Given the description of an element on the screen output the (x, y) to click on. 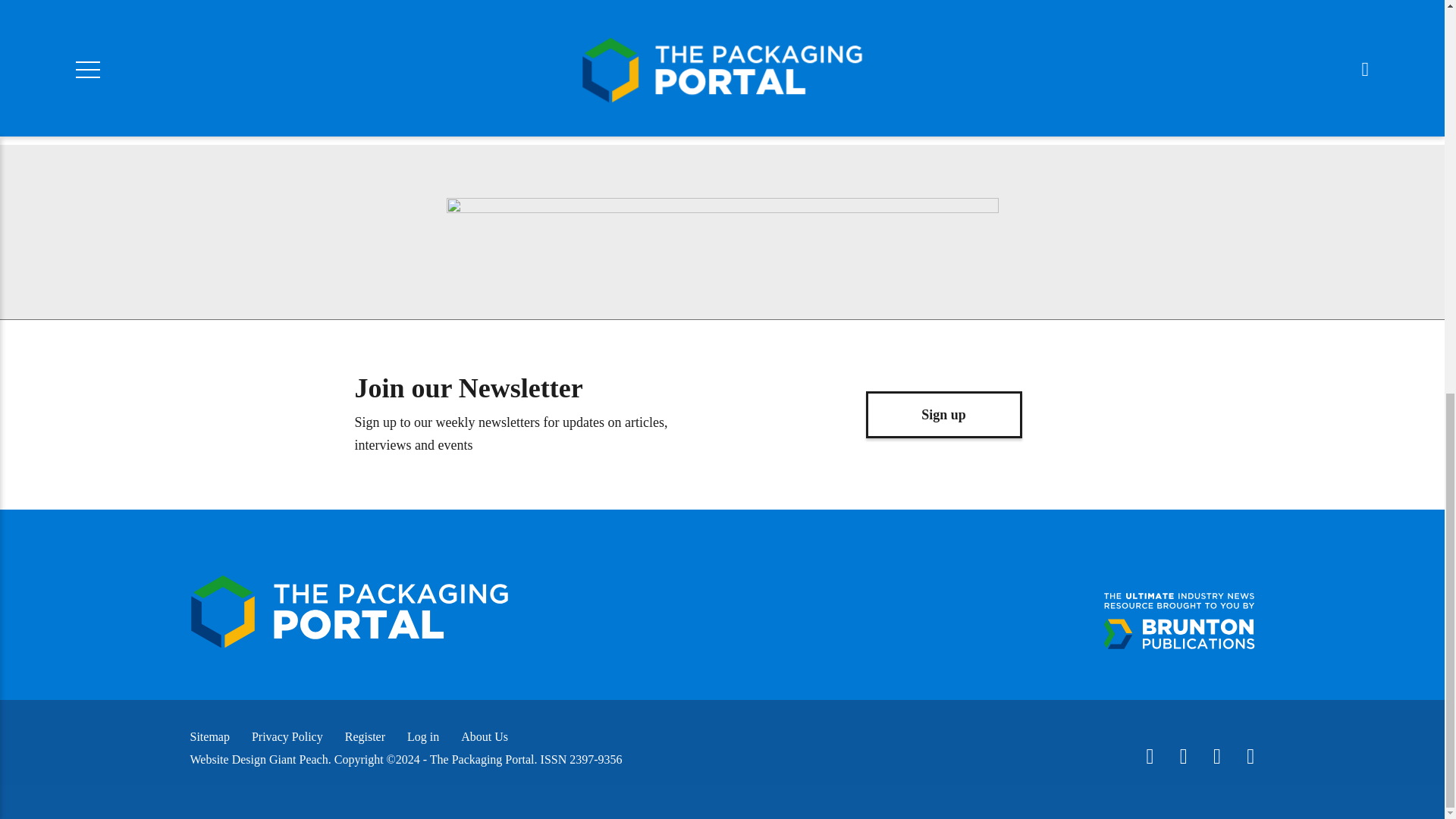
Register (365, 736)
Log in (423, 736)
Send link to friend (725, 15)
About Us (484, 736)
Share on LinkedIn (645, 15)
Privacy Policy (287, 736)
Sitemap (208, 736)
Share on Whatsapp (564, 15)
Share on Twitter (483, 15)
Sign up (944, 414)
